Given the description of an element on the screen output the (x, y) to click on. 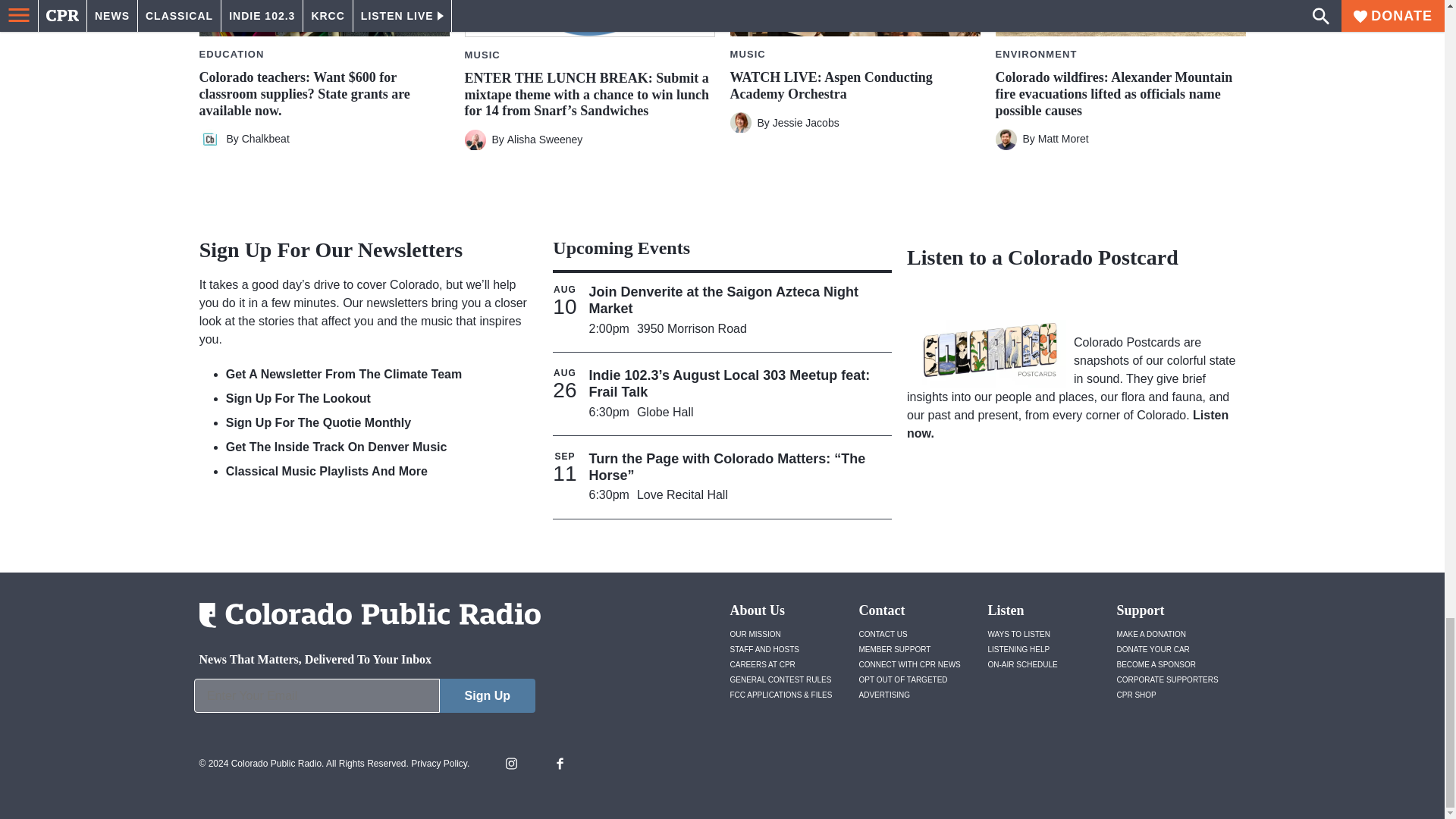
footer (364, 699)
